Given the description of an element on the screen output the (x, y) to click on. 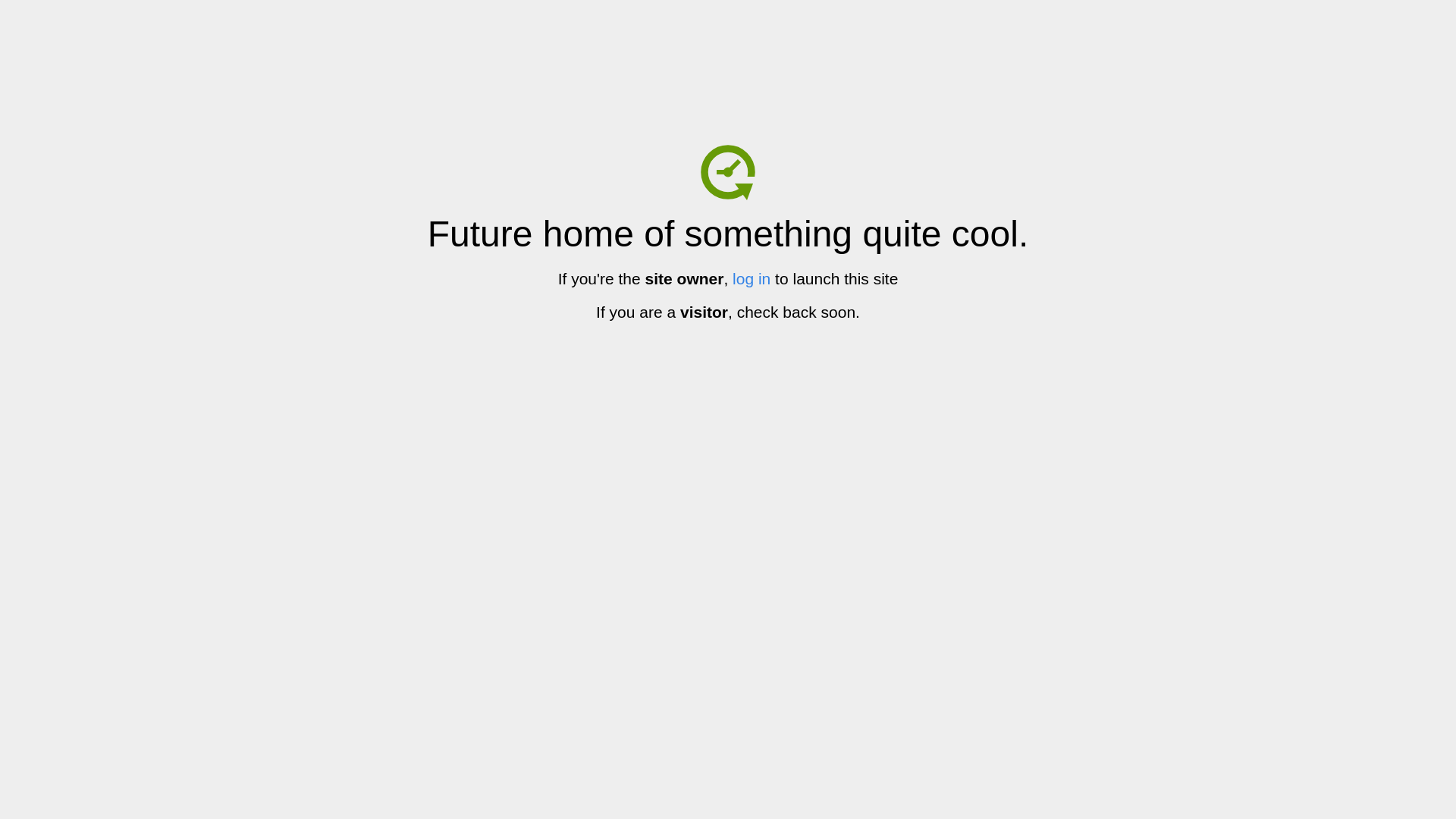
log in Element type: text (751, 278)
